Given the description of an element on the screen output the (x, y) to click on. 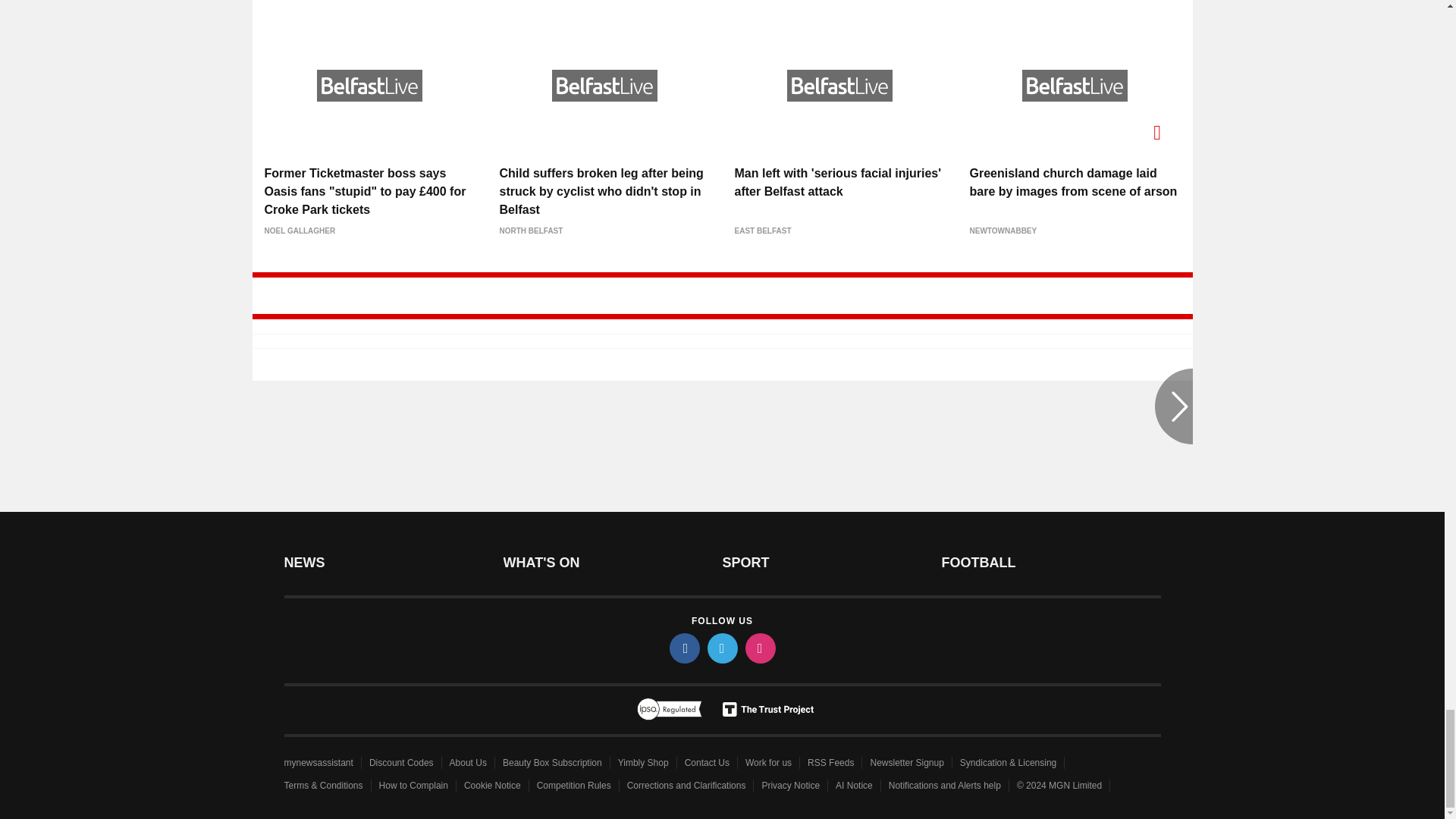
facebook (683, 648)
twitter (721, 648)
instagram (759, 648)
